Given the description of an element on the screen output the (x, y) to click on. 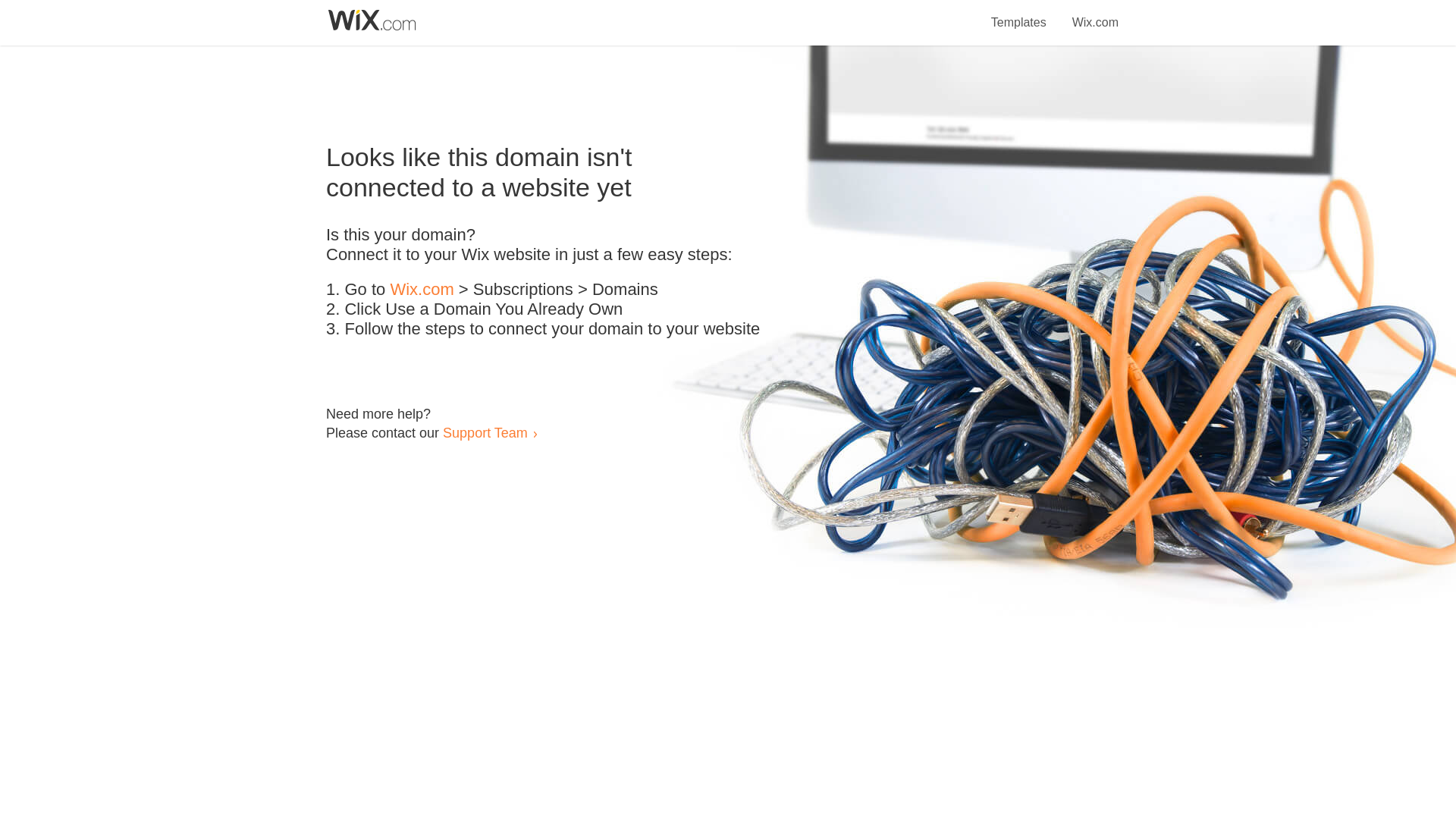
Wix.com (1095, 14)
Wix.com (421, 289)
Templates (1018, 14)
Support Team (484, 432)
